Given the description of an element on the screen output the (x, y) to click on. 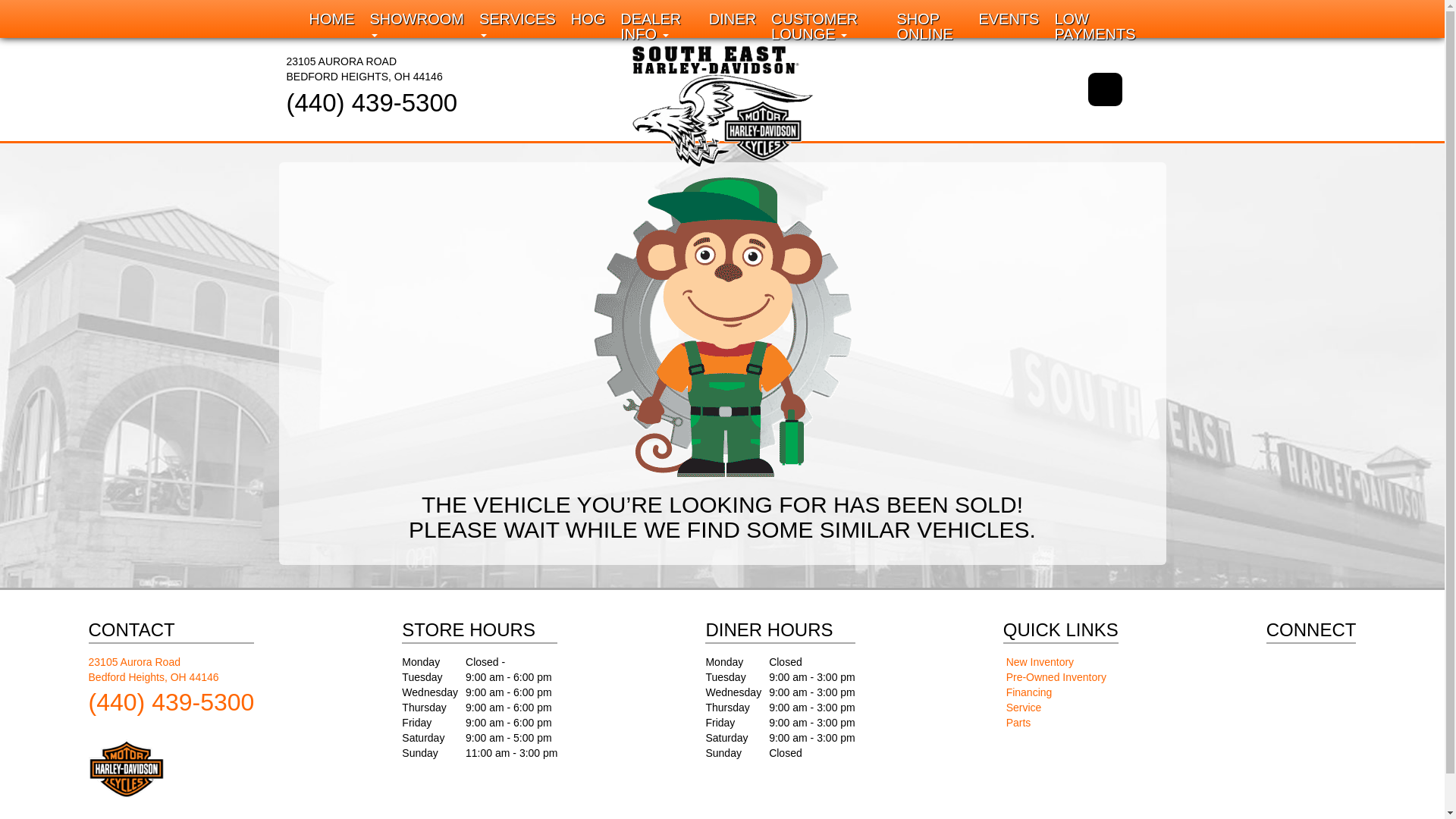
SHOP ONLINE (929, 26)
Showroom (364, 68)
Services (416, 26)
Dealer Info (517, 26)
HOG (656, 26)
CUSTOMER LOUNGE (587, 18)
SERVICES (825, 26)
EVENTS (517, 26)
DINER (1008, 18)
DEALER INFO (731, 18)
SHOWROOM (656, 26)
LOW PAYMENTS (416, 26)
Home (1094, 26)
HOME (331, 18)
